Given the description of an element on the screen output the (x, y) to click on. 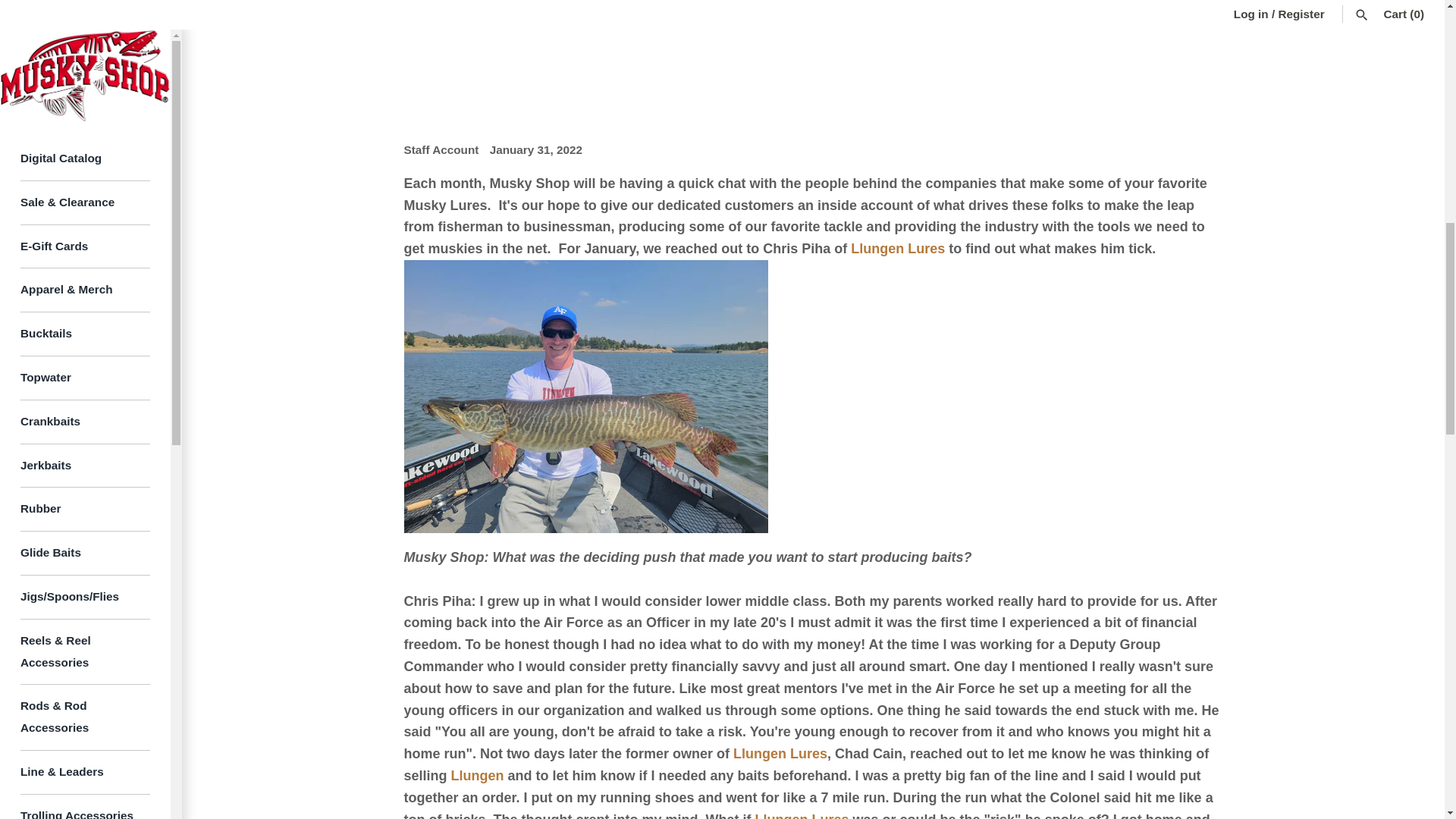
Nets (84, 106)
Trolling Accessories (84, 9)
Sunglasses (84, 194)
Blades (84, 239)
